Given the description of an element on the screen output the (x, y) to click on. 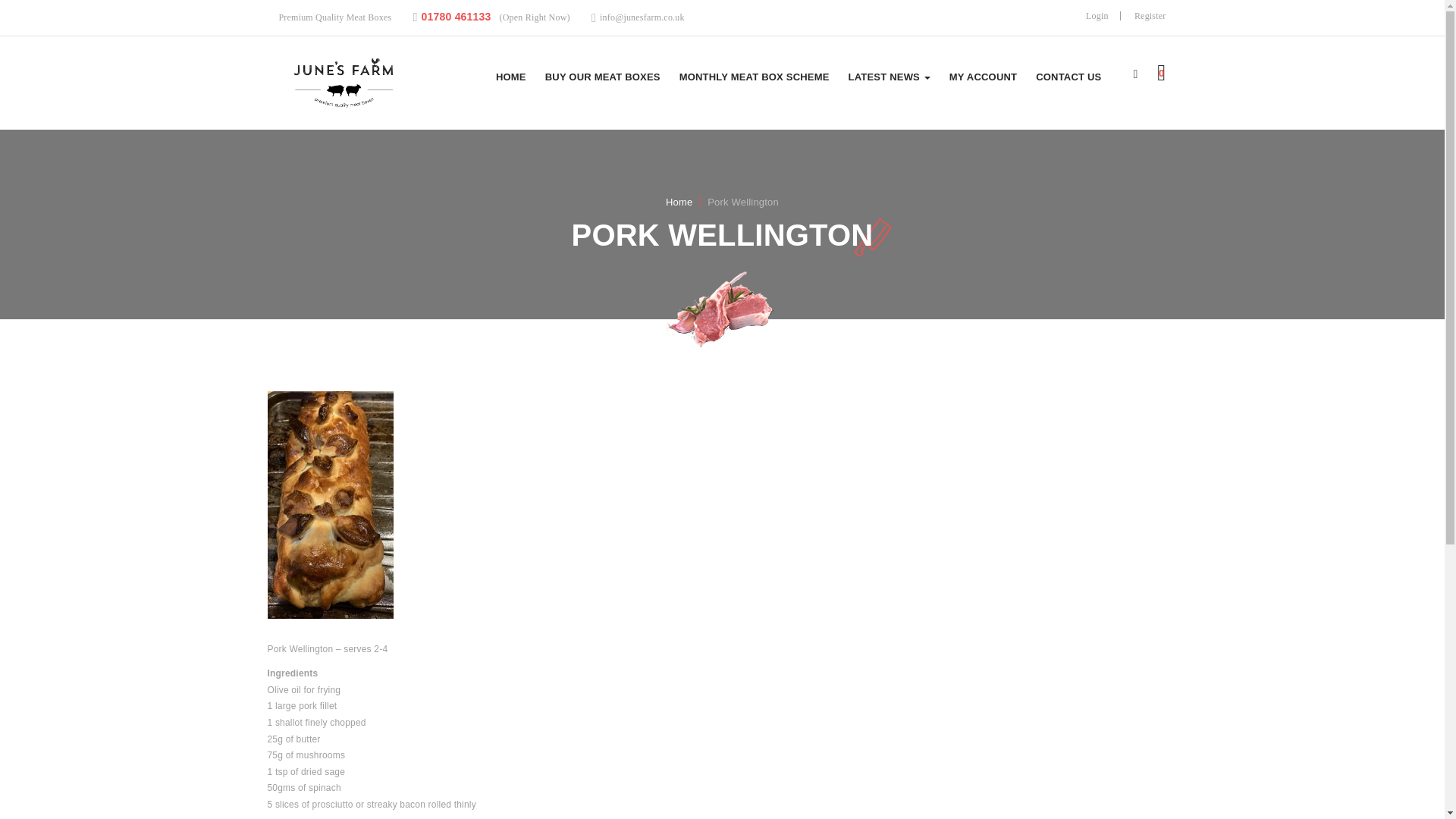
LATEST NEWS (889, 76)
Register (1150, 15)
MONTHLY MEAT BOX SCHEME (754, 76)
BUY OUR MEAT BOXES (602, 76)
Login (1097, 15)
Login (1097, 15)
Home (679, 201)
Register (1150, 15)
